Given the description of an element on the screen output the (x, y) to click on. 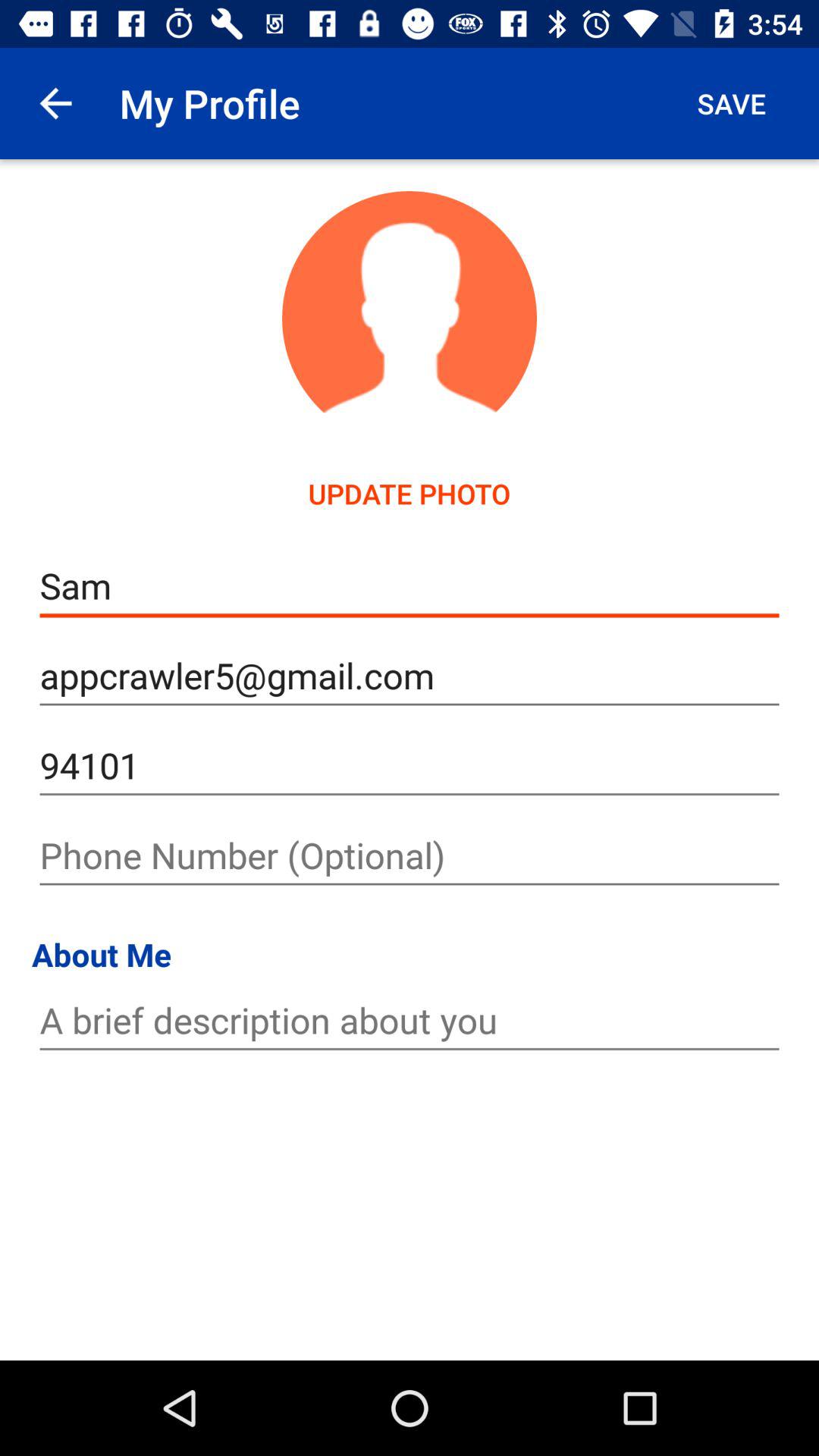
enter description about yourself (409, 1020)
